Given the description of an element on the screen output the (x, y) to click on. 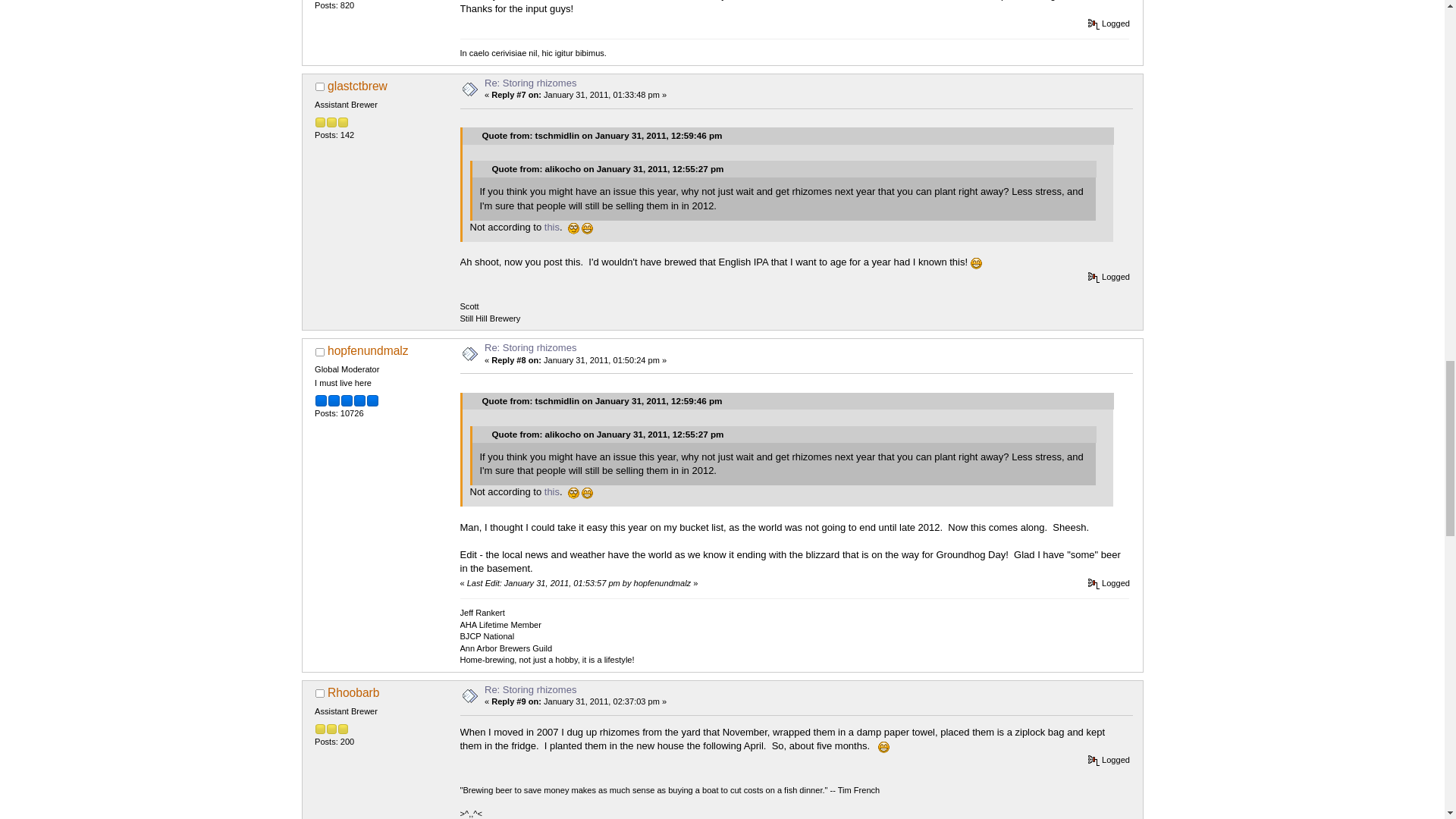
Roll Eyes (573, 228)
View the profile of glastctbrew (357, 85)
